Given the description of an element on the screen output the (x, y) to click on. 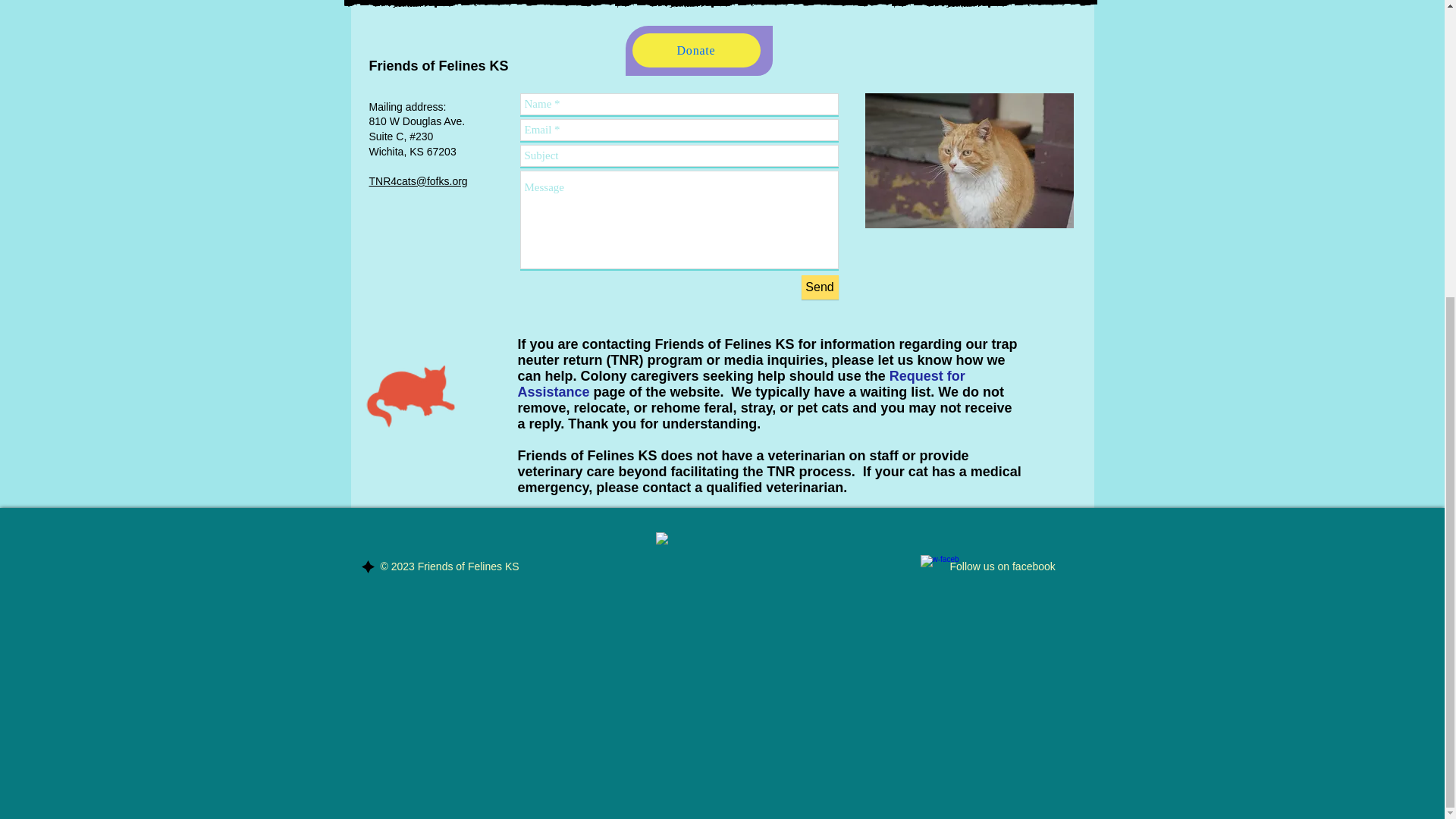
051.JPG (968, 160)
Send (819, 287)
Donate (695, 50)
Embedded Content (696, 575)
Follow us on facebook (1001, 566)
